Given the description of an element on the screen output the (x, y) to click on. 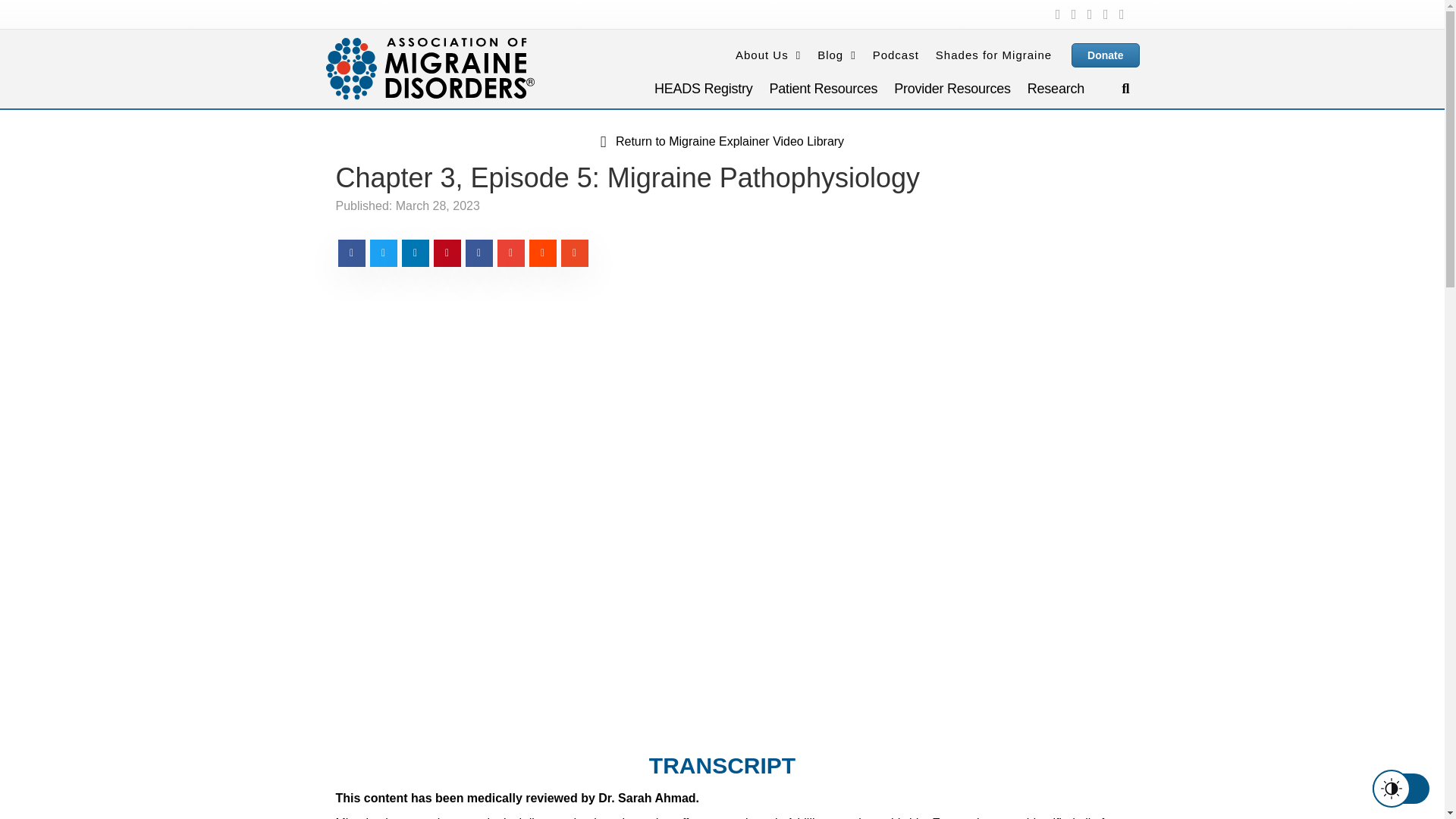
Provider Resources (951, 90)
Patient Resources (823, 90)
Blog (836, 54)
HEADS Registry (703, 90)
Podcast (895, 54)
About Us (768, 54)
Donate (1104, 54)
Shades for Migraine (993, 54)
